Given the description of an element on the screen output the (x, y) to click on. 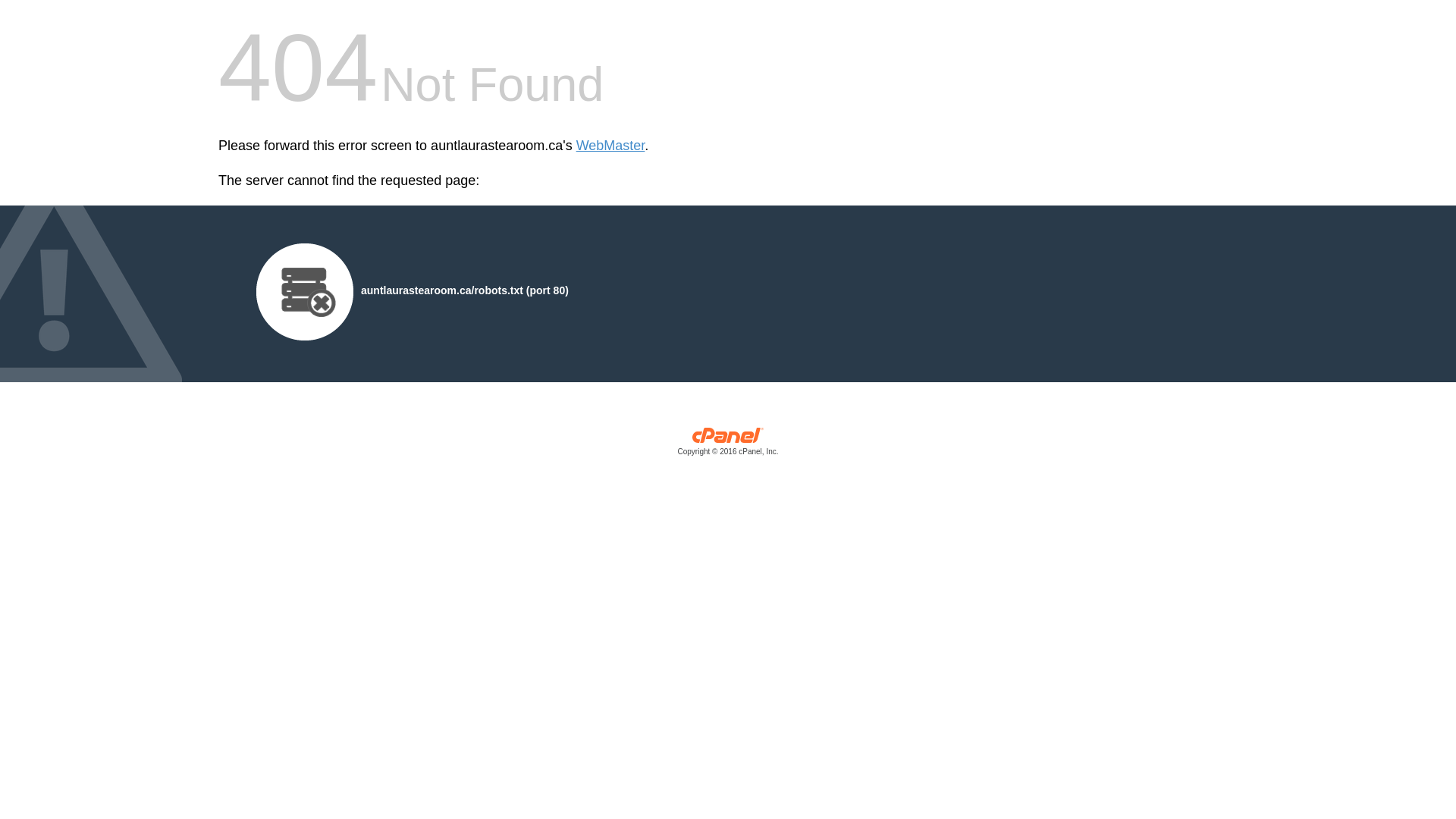
WebMaster Element type: text (610, 145)
